Given the description of an element on the screen output the (x, y) to click on. 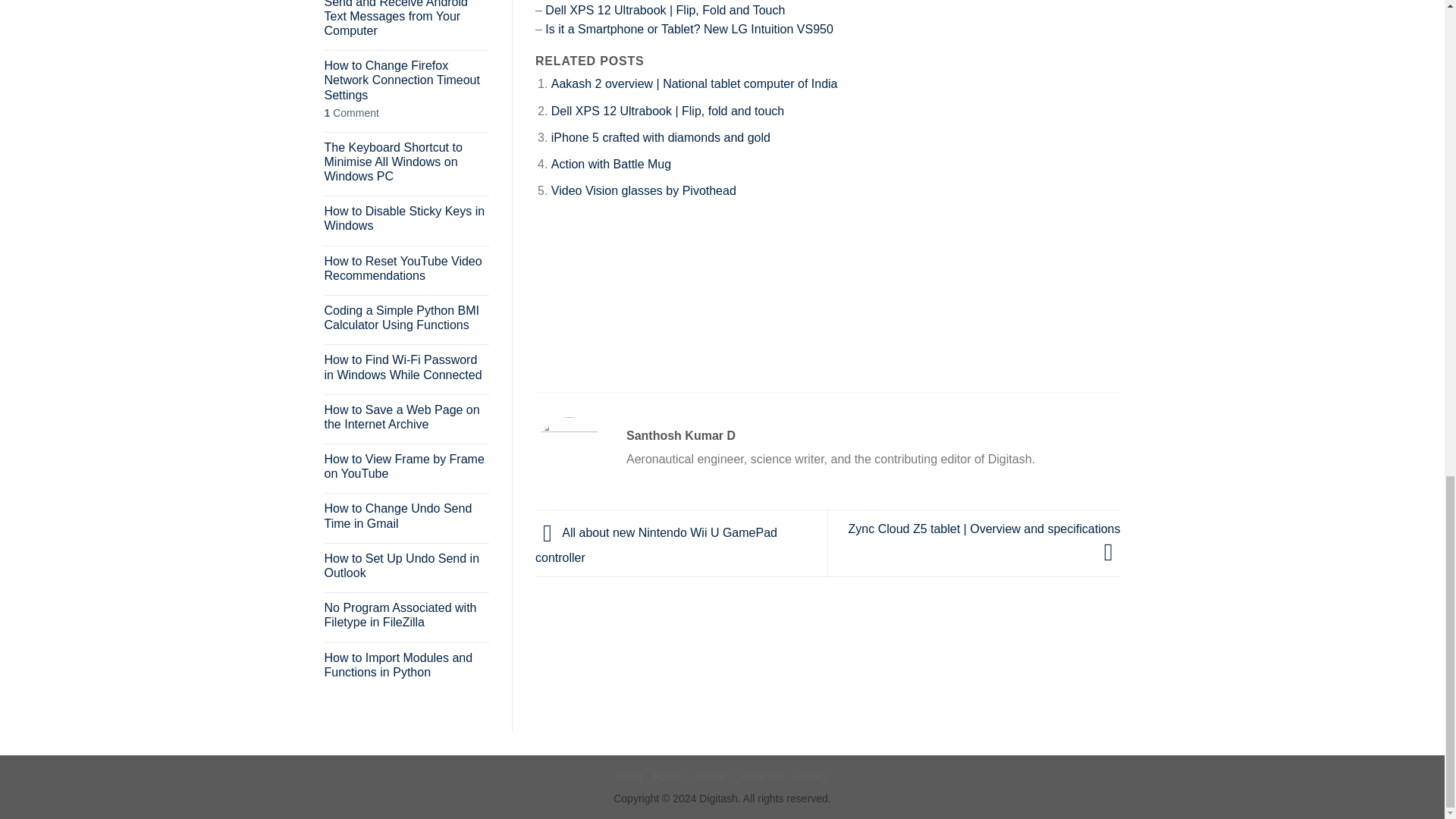
How to Find Wi-Fi Password in Windows While Connected (406, 366)
How to View Frame by Frame on YouTube (406, 466)
Coding a Simple Python BMI Calculator Using Functions (406, 317)
Send and Receive Android Text Messages from Your Computer (406, 19)
How to Reset YouTube Video Recommendations (406, 267)
How to View Frame by Frame on YouTube (406, 466)
No Program Associated with Filetype in FileZilla (406, 614)
How to Disable Sticky Keys in Windows (406, 217)
How to Change Undo Send Time in Gmail (406, 515)
Coding a Simple Python BMI Calculator Using Functions (406, 317)
How to Save a Web Page on the Internet Archive (406, 416)
1 Comment (406, 113)
The Keyboard Shortcut to Minimise All Windows on Windows PC (406, 162)
Send and Receive Android Text Messages from Your Computer (406, 19)
How to Set Up Undo Send in Outlook (406, 565)
